Given the description of an element on the screen output the (x, y) to click on. 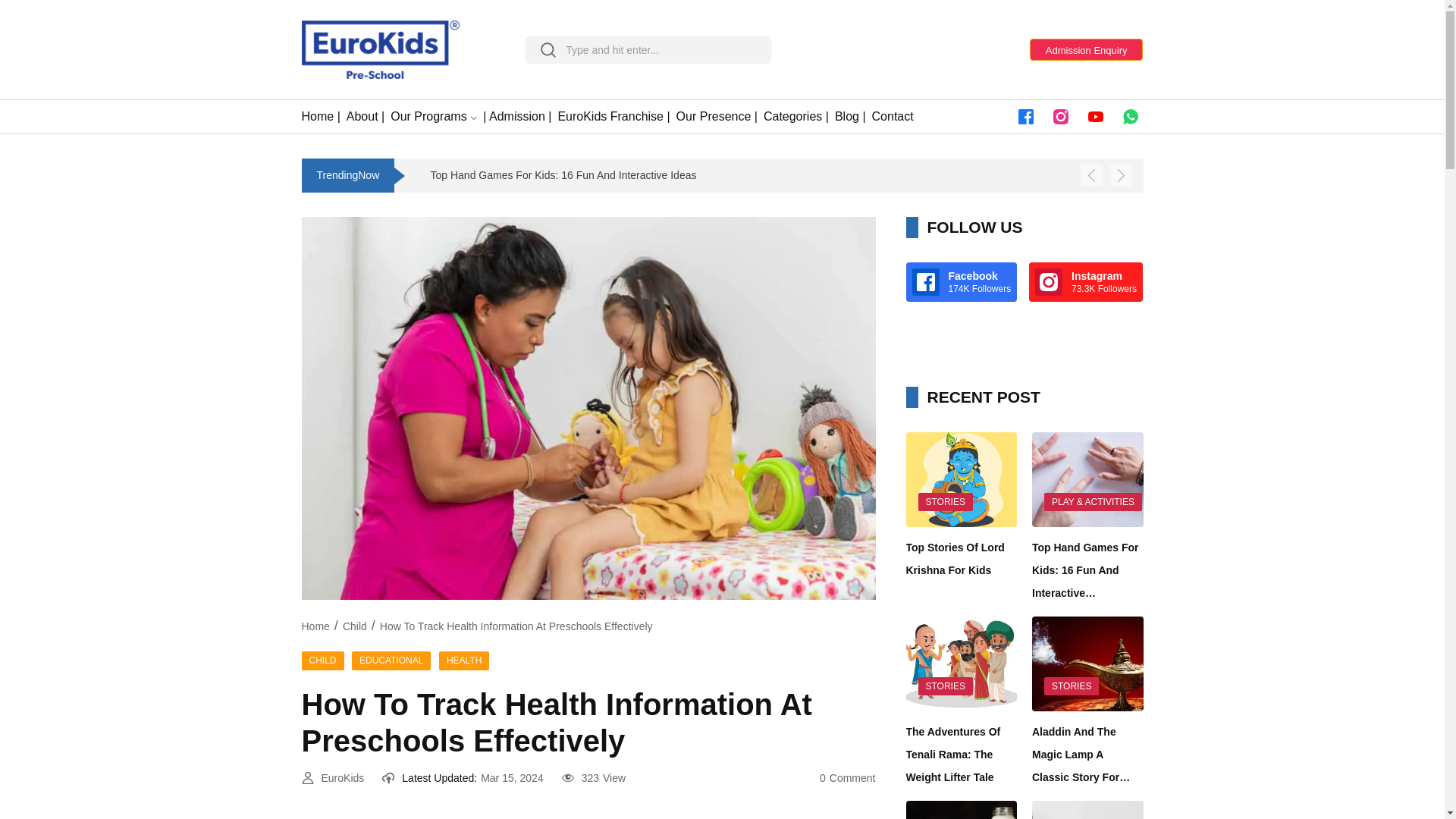
Home (315, 625)
Our Programs (427, 116)
Child (354, 625)
EDUCATIONAL (391, 660)
EuroKids (343, 778)
CHILD (322, 660)
HEALTH (464, 660)
Admission Enquiry (1085, 49)
Top Hand Games For Kids: 16 Fun And Interactive Ideas (191, 176)
Contact (893, 116)
